Given the description of an element on the screen output the (x, y) to click on. 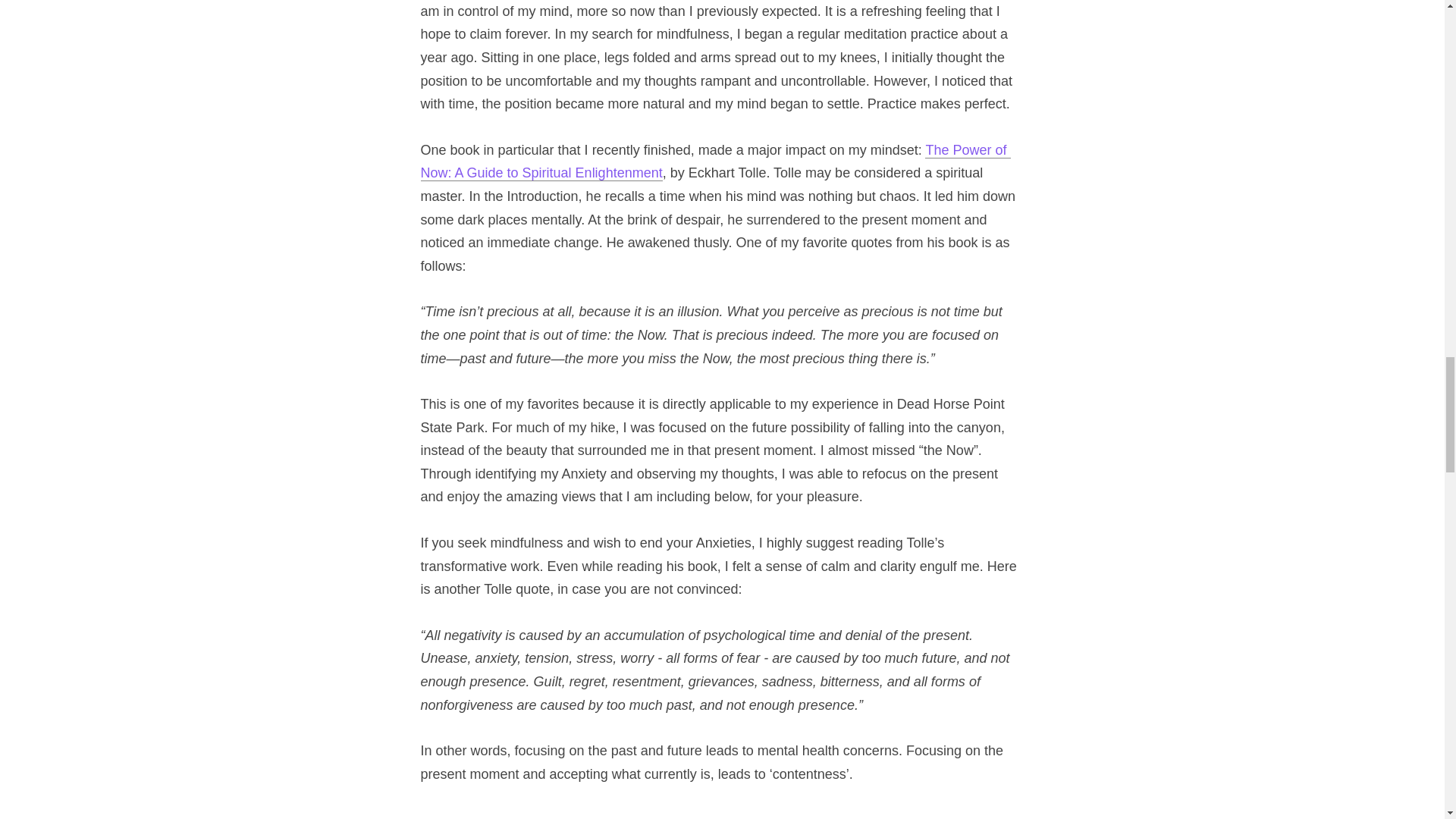
The Power of Now: A Guide to Spiritual Enlightenment (715, 161)
